Given the description of an element on the screen output the (x, y) to click on. 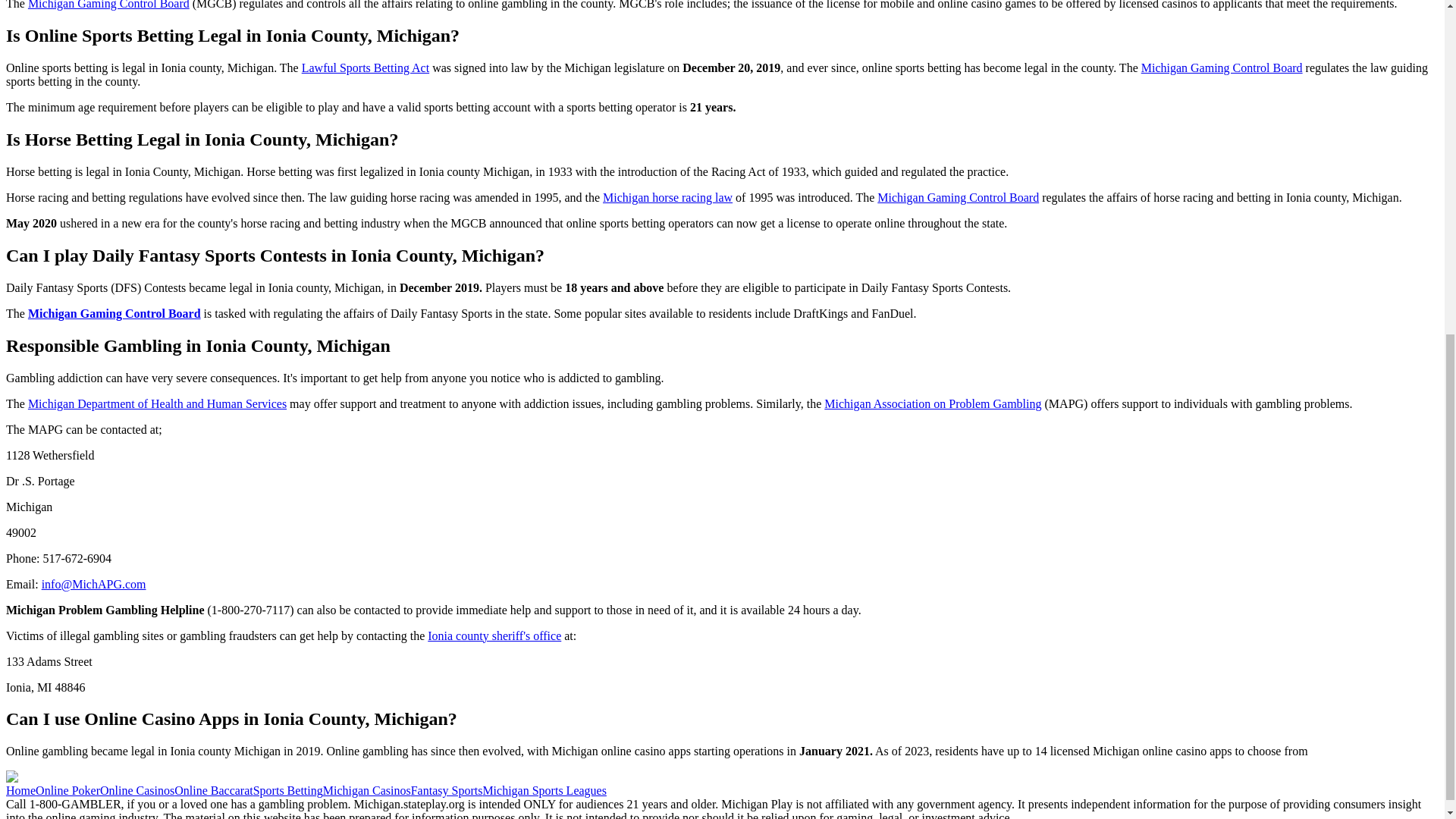
Michigan Gaming Control Board (113, 313)
Lawful Sports Betting Act (365, 67)
Michigan horse racing law (667, 196)
Michigan Gaming Control Board (958, 196)
Michigan Gaming Control Board (108, 4)
Michigan Gaming Control Board (1222, 67)
Michigan Association on Problem Gambling (932, 403)
Michigan Department of Health and Human Services (156, 403)
